Given the description of an element on the screen output the (x, y) to click on. 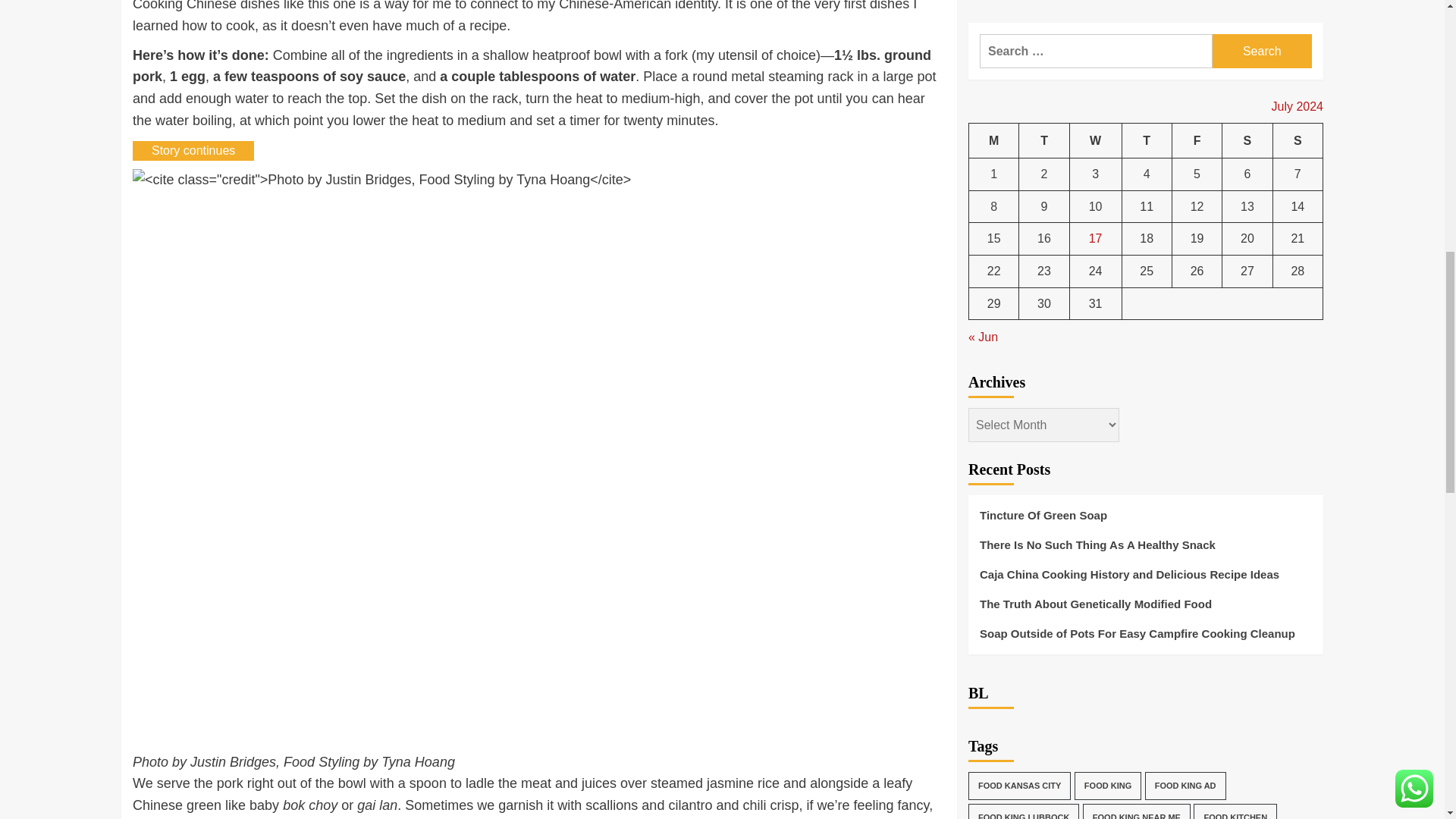
Story continues (192, 150)
Seedbacklink (986, 806)
